Given the description of an element on the screen output the (x, y) to click on. 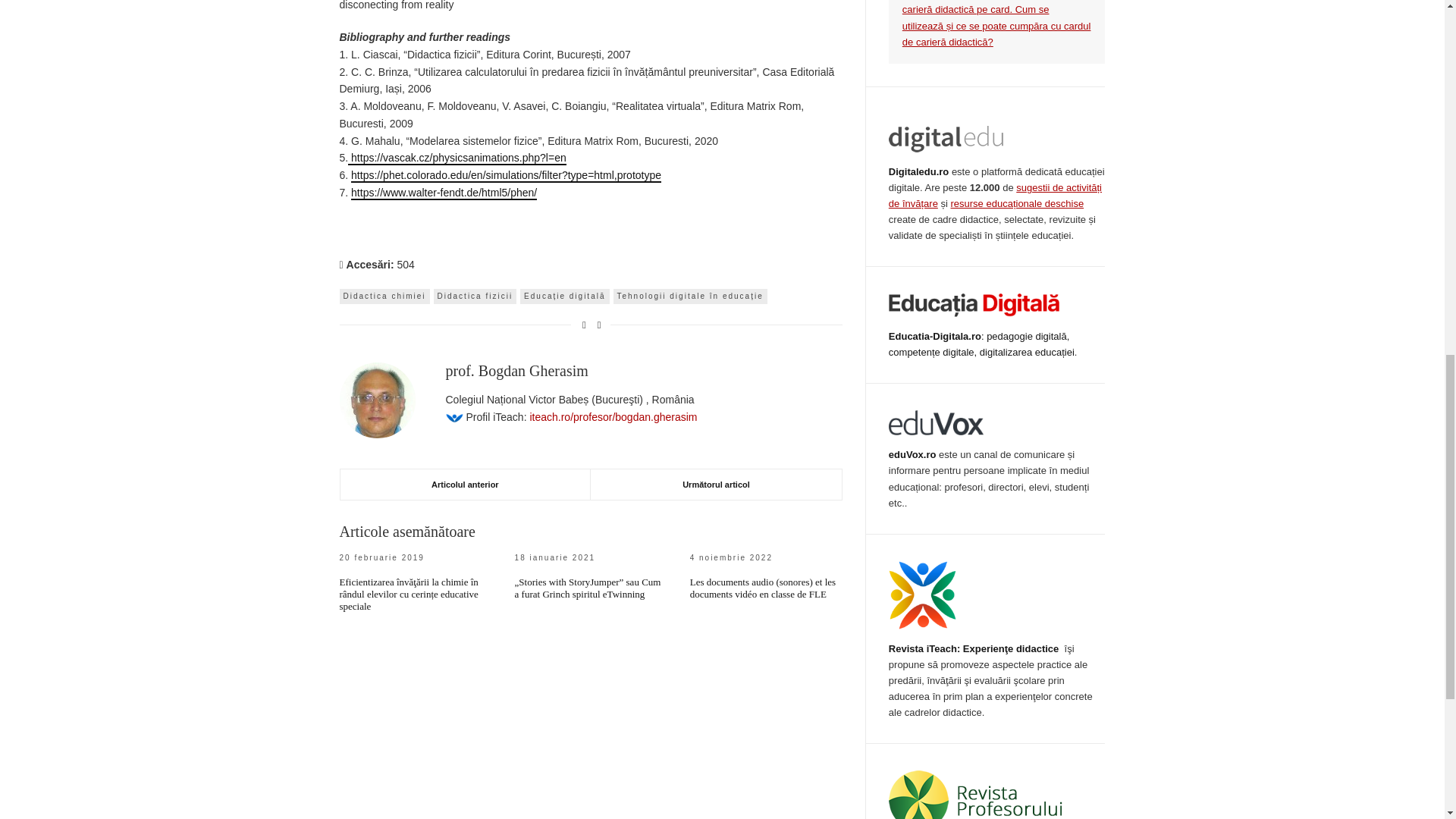
Didactica chimiei (384, 296)
Didactica fizicii (474, 296)
Articolul anterior (465, 484)
EduVox (936, 422)
Revista Profesorului (975, 794)
